Given the description of an element on the screen output the (x, y) to click on. 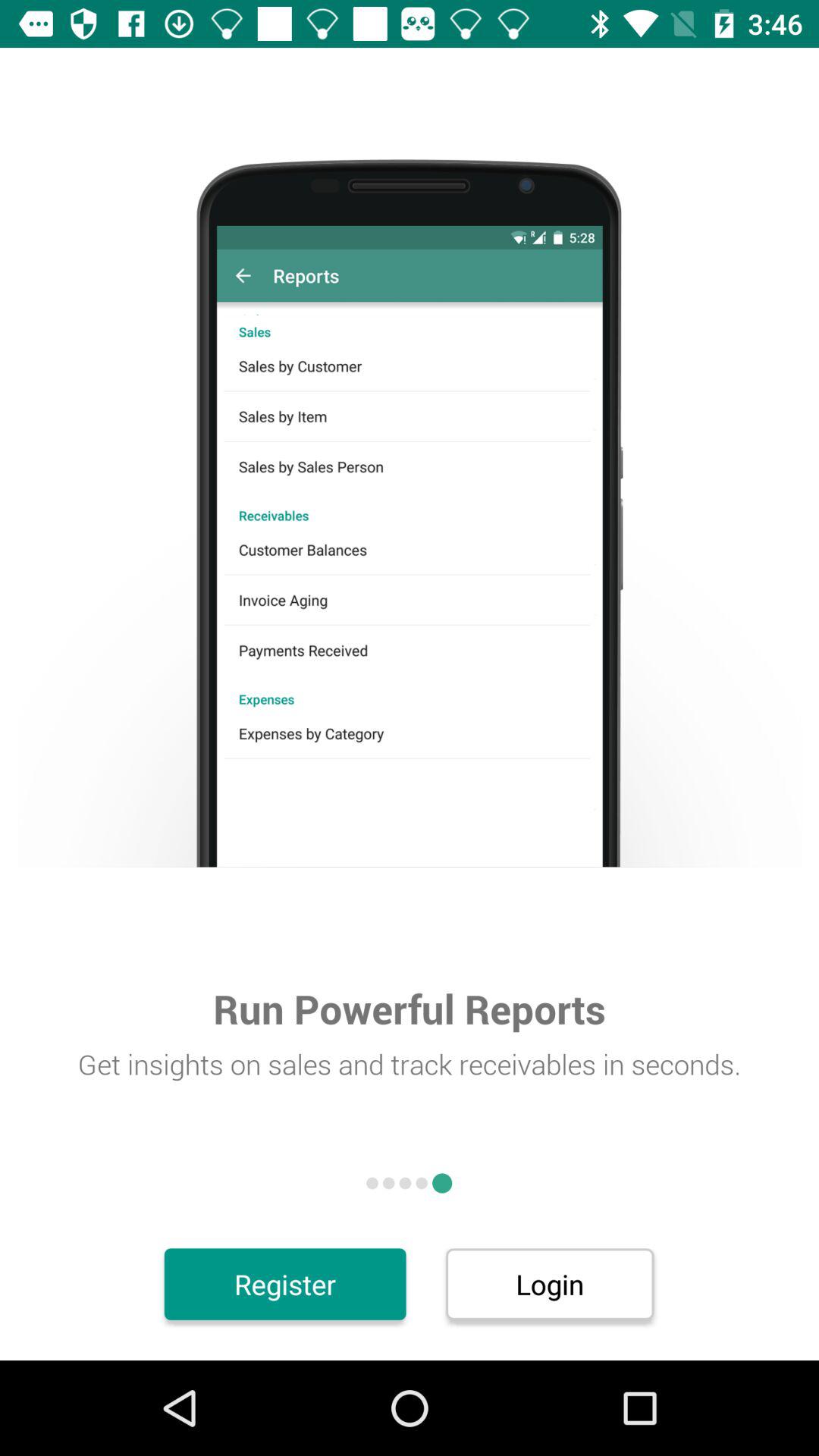
scroll to the register icon (285, 1284)
